Given the description of an element on the screen output the (x, y) to click on. 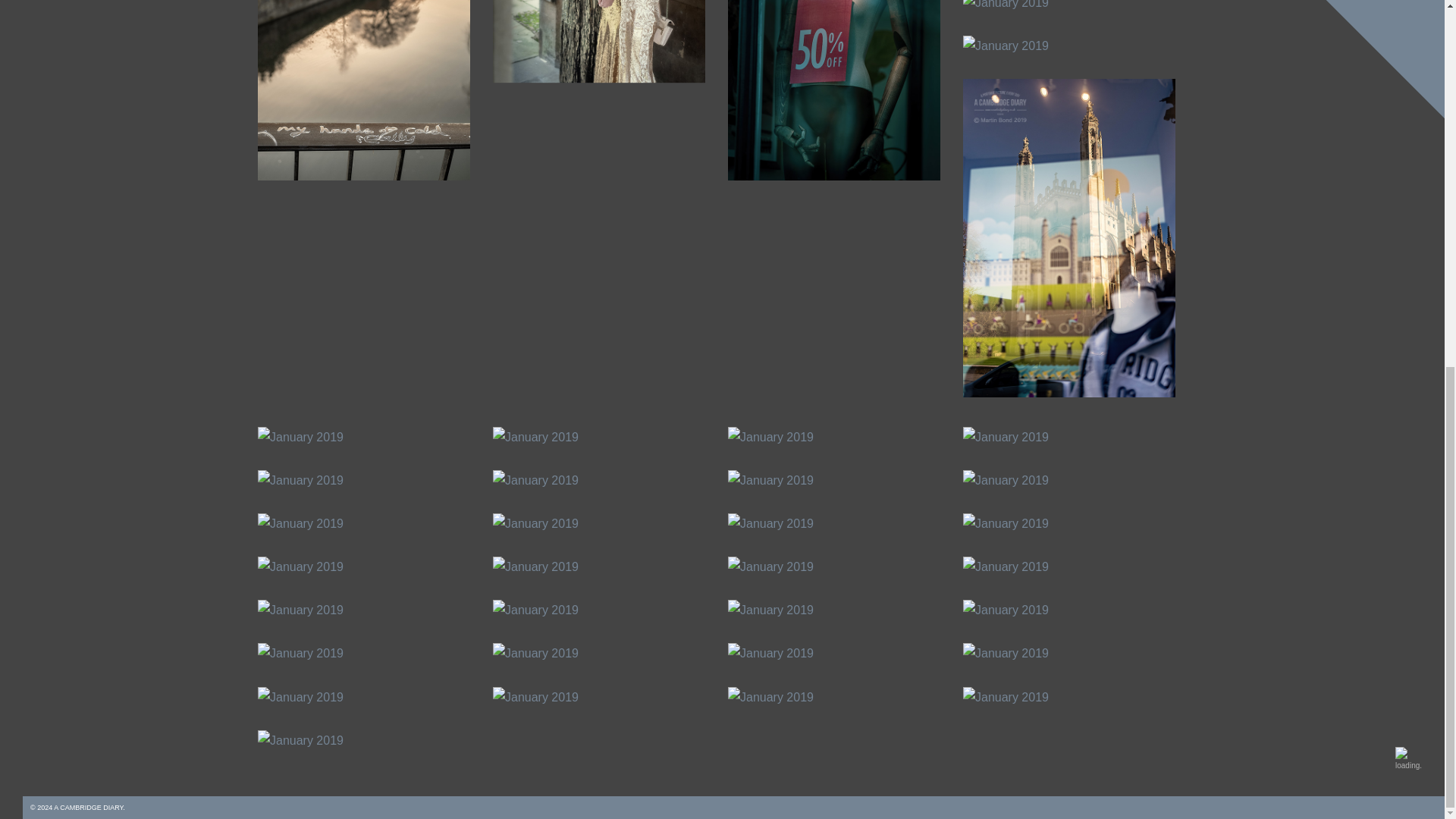
Facebook Profile (1430, 146)
Follow on Twitter (1408, 146)
